Given the description of an element on the screen output the (x, y) to click on. 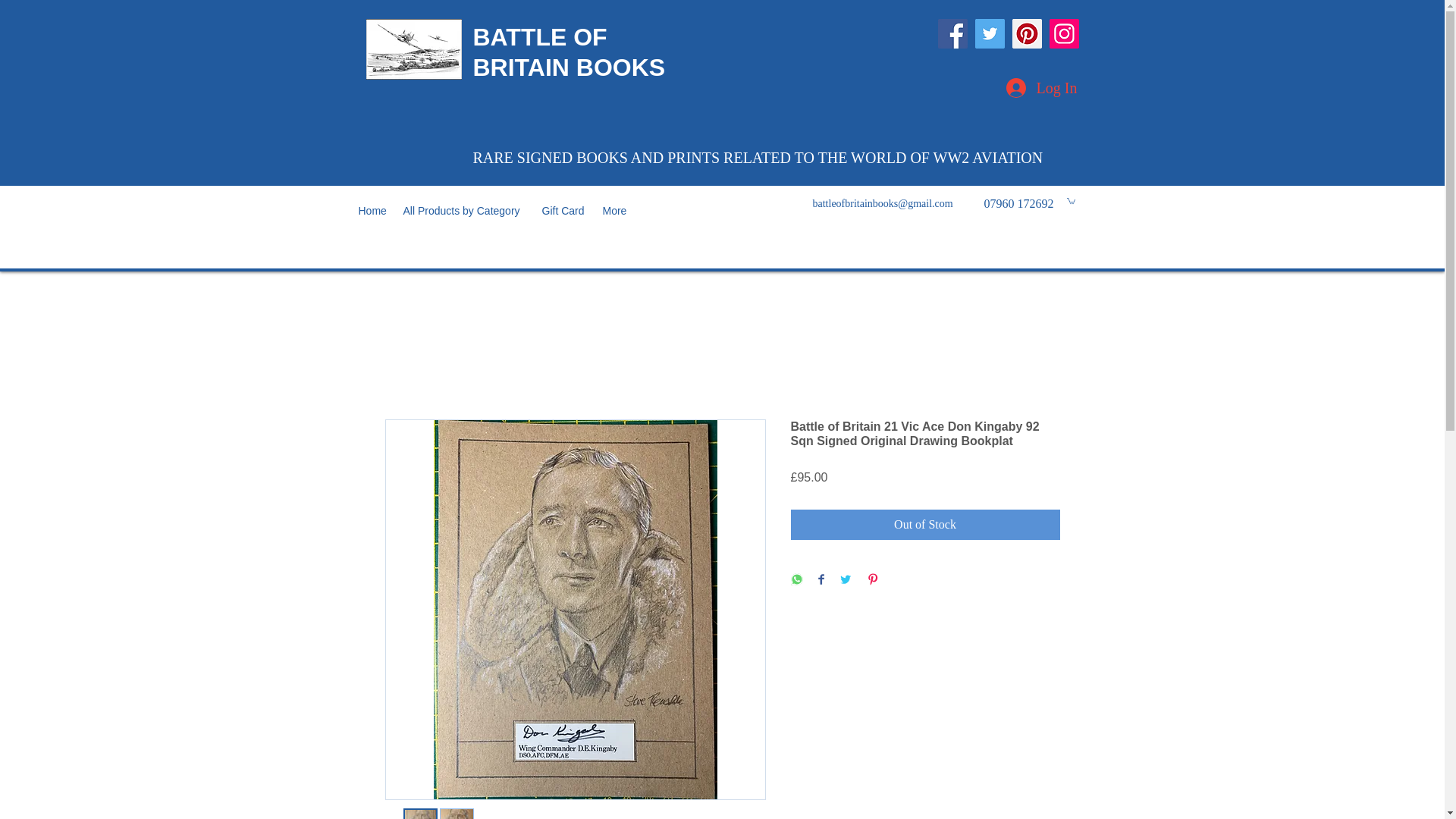
All Products by Category (465, 210)
Log In (1040, 87)
Out of Stock (924, 524)
Gift Card (564, 210)
Home (372, 210)
